Given the description of an element on the screen output the (x, y) to click on. 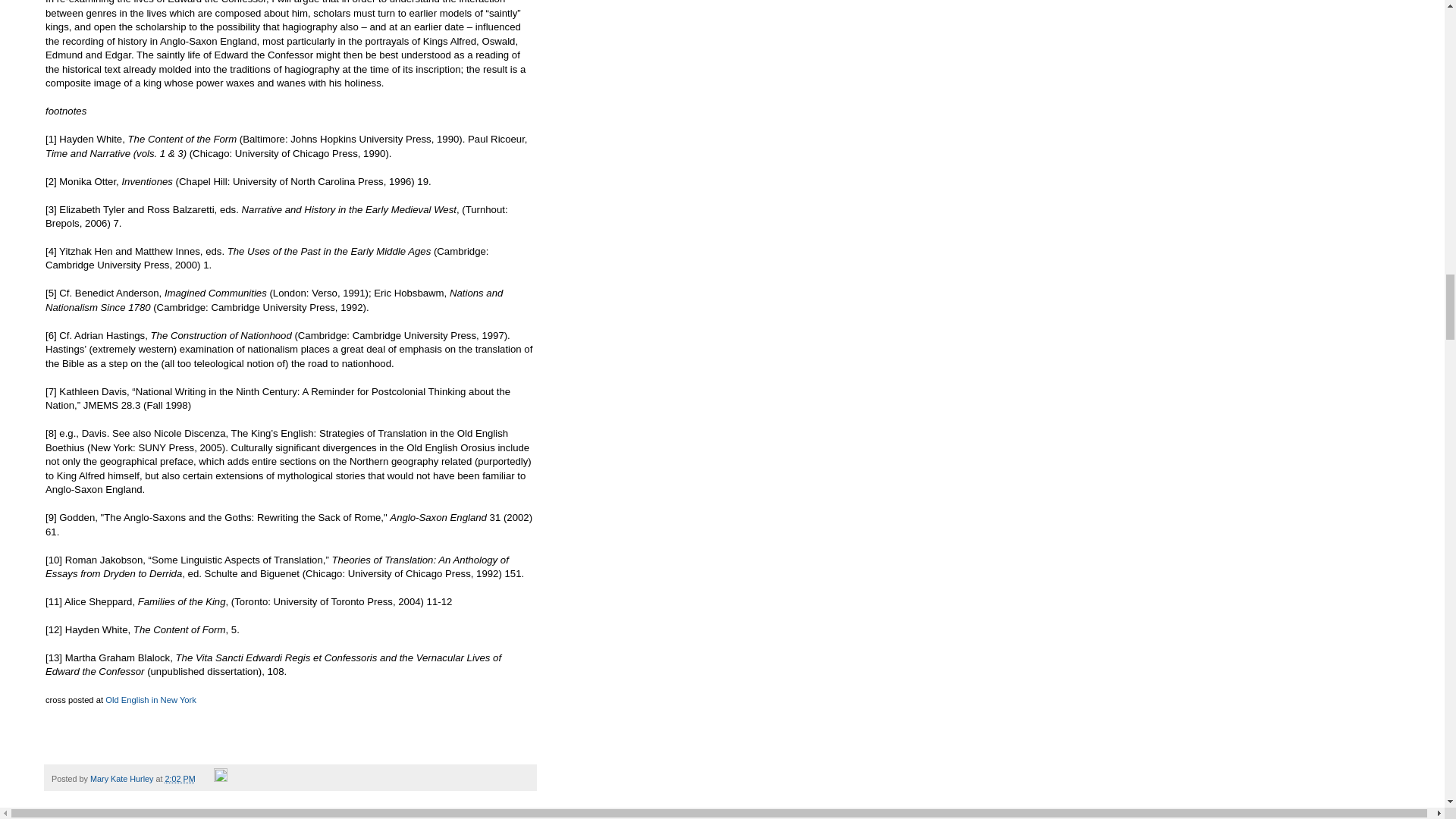
2:02 PM (179, 777)
Edit Post (220, 777)
Old English in New York (150, 699)
permanent link (179, 777)
Mary Kate Hurley (122, 777)
author profile (122, 777)
Email Post (206, 777)
